Given the description of an element on the screen output the (x, y) to click on. 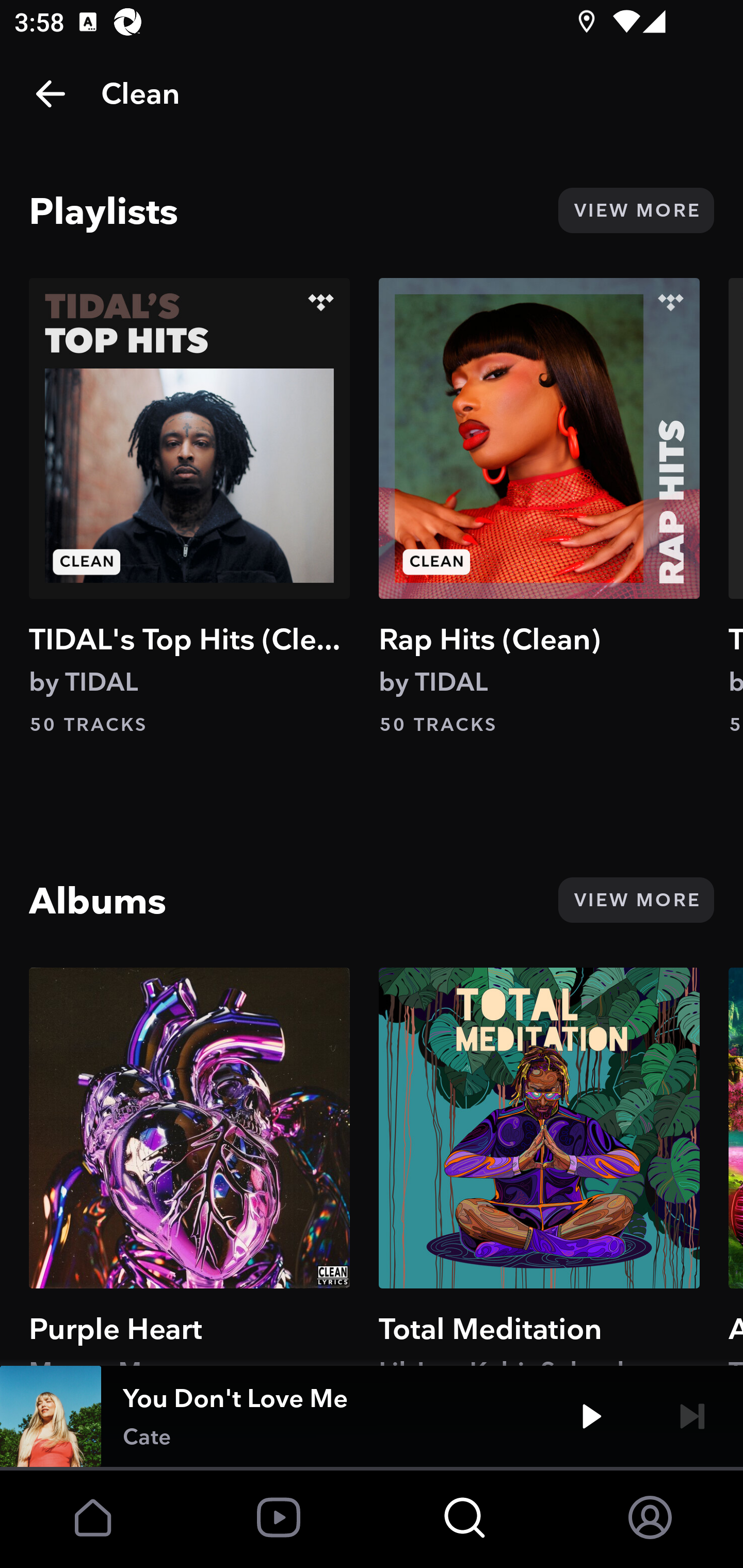
VIEW MORE (635, 210)
TIDAL's Top Hits (Clean) by TIDAL 50 TRACKS (188, 506)
Rap Hits (Clean) by TIDAL 50 TRACKS (538, 506)
VIEW MORE (635, 899)
Purple Heart Money Man (188, 1166)
Total Meditation Lil Jon, Kabir Sehgal (538, 1166)
You Don't Love Me Cate Play (371, 1416)
Play (590, 1416)
